Given the description of an element on the screen output the (x, y) to click on. 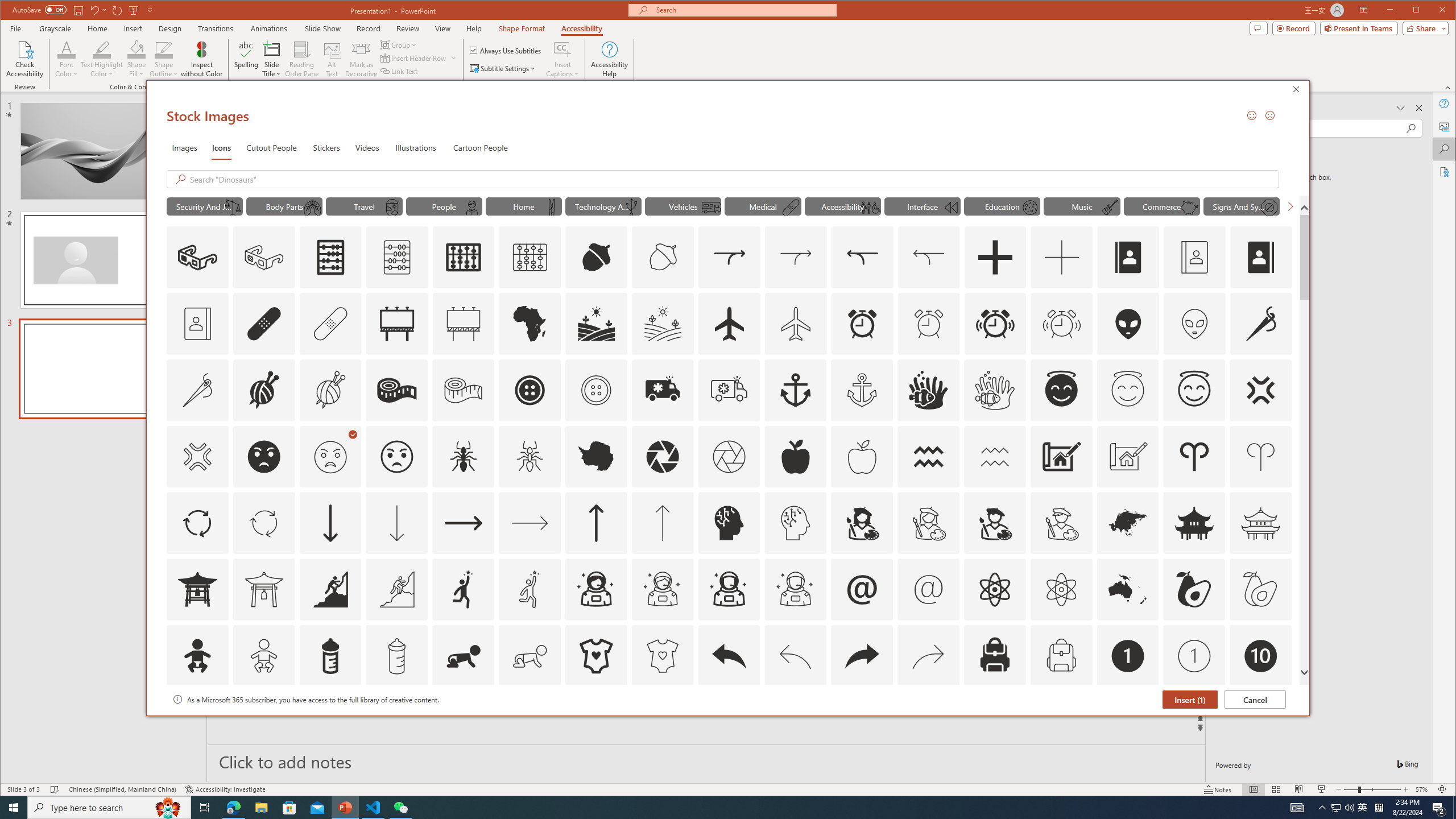
AutomationID: Icons_Acquisition_LTR (729, 256)
AutomationID: Icons_Add_M (1061, 256)
AutomationID: Icons_AdhesiveBandage (263, 323)
AutomationID: Icons_AddressBook_LTR (1128, 256)
AutomationID: Icons_Badge7 (928, 721)
AutomationID: Icons_Aries (1193, 456)
"Commerce" Icons. (1161, 206)
Grayscale (55, 28)
AutomationID: Icons_AstronautMale_M (795, 589)
